Given the description of an element on the screen output the (x, y) to click on. 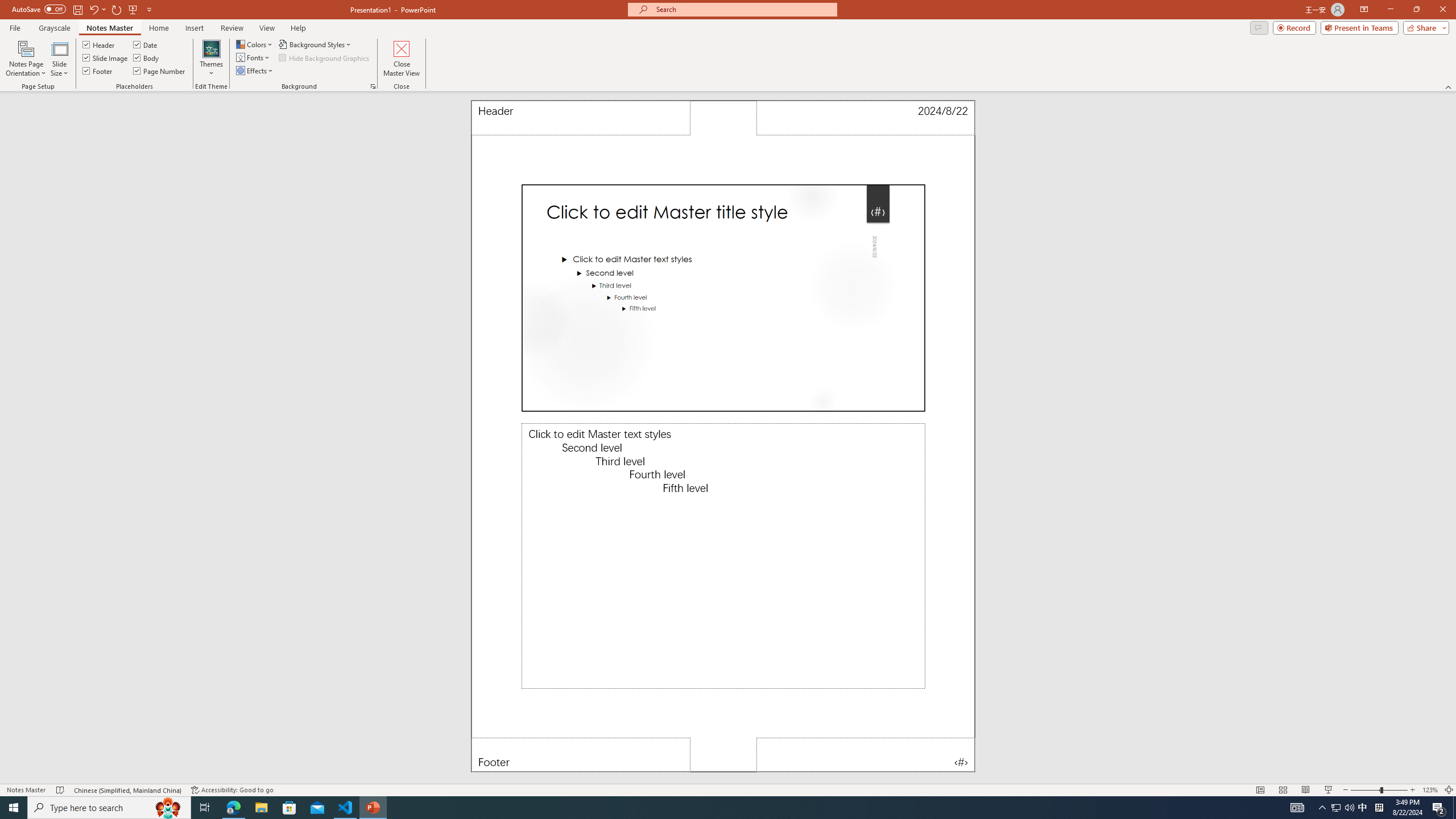
Background Styles (315, 44)
Body (147, 56)
Footer (580, 754)
Notes Page Orientation (26, 58)
Header (580, 117)
Themes (211, 58)
